Given the description of an element on the screen output the (x, y) to click on. 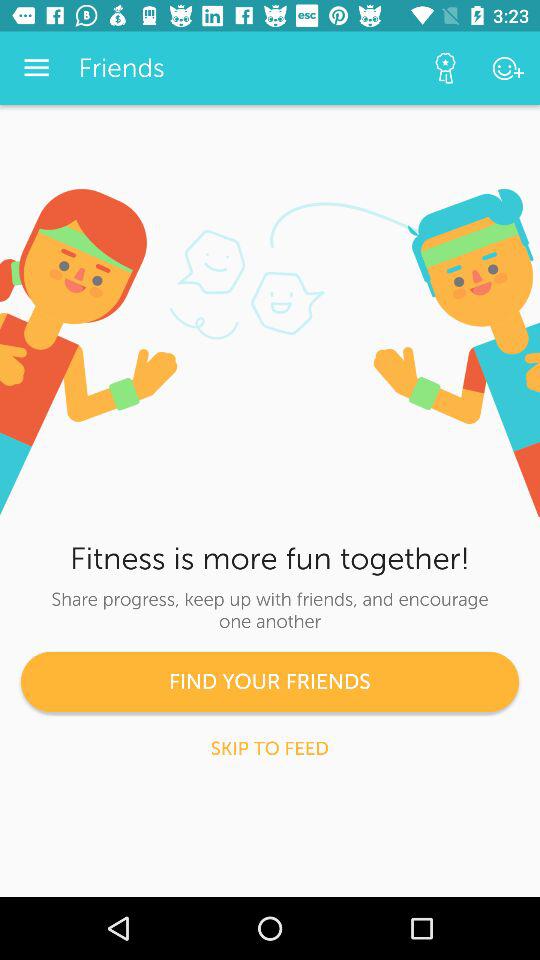
turn on the item below the find your friends icon (269, 748)
